Given the description of an element on the screen output the (x, y) to click on. 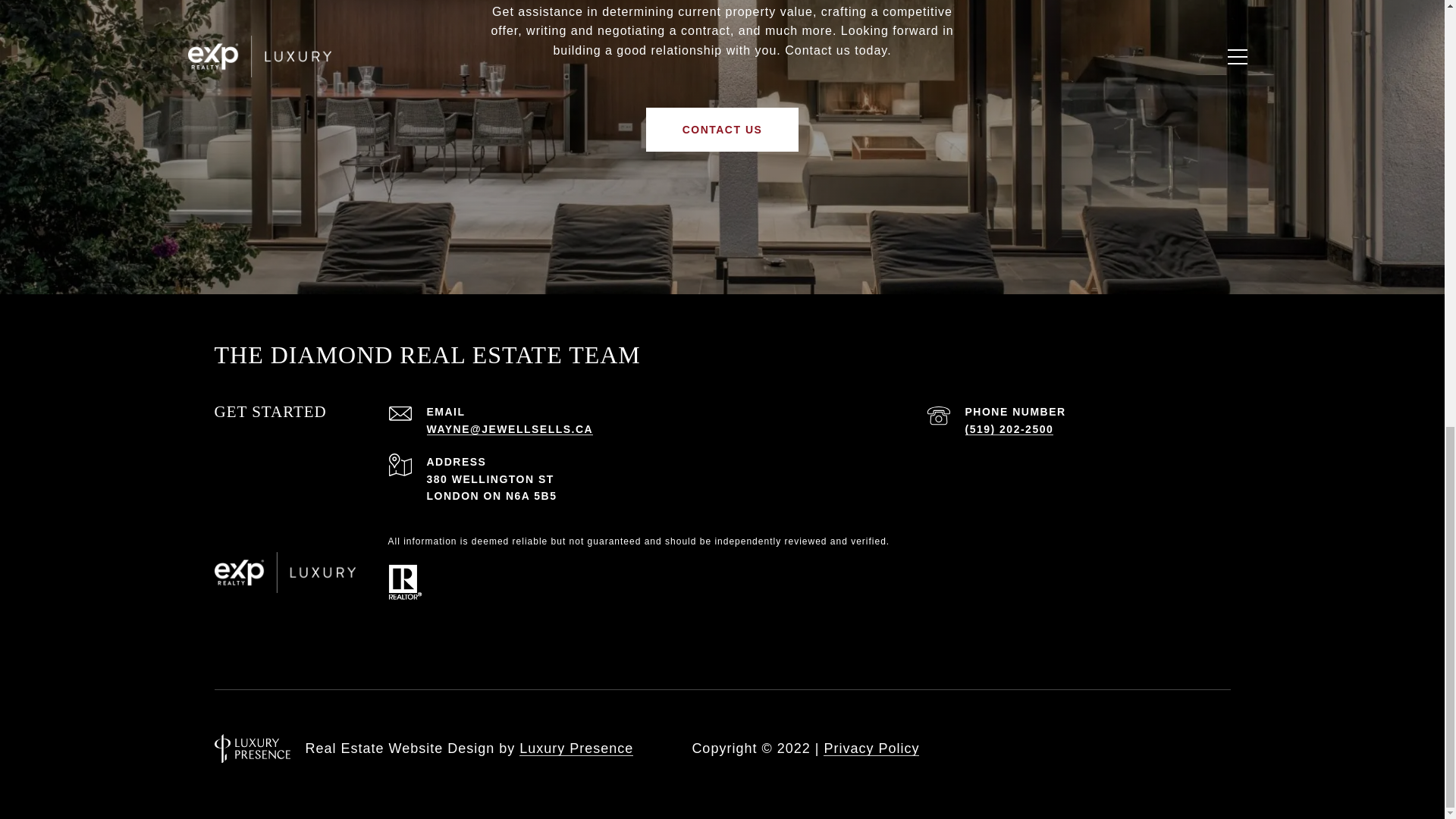
Privacy Policy (871, 748)
Luxury Presence (576, 748)
CONTACT US (722, 129)
